Given the description of an element on the screen output the (x, y) to click on. 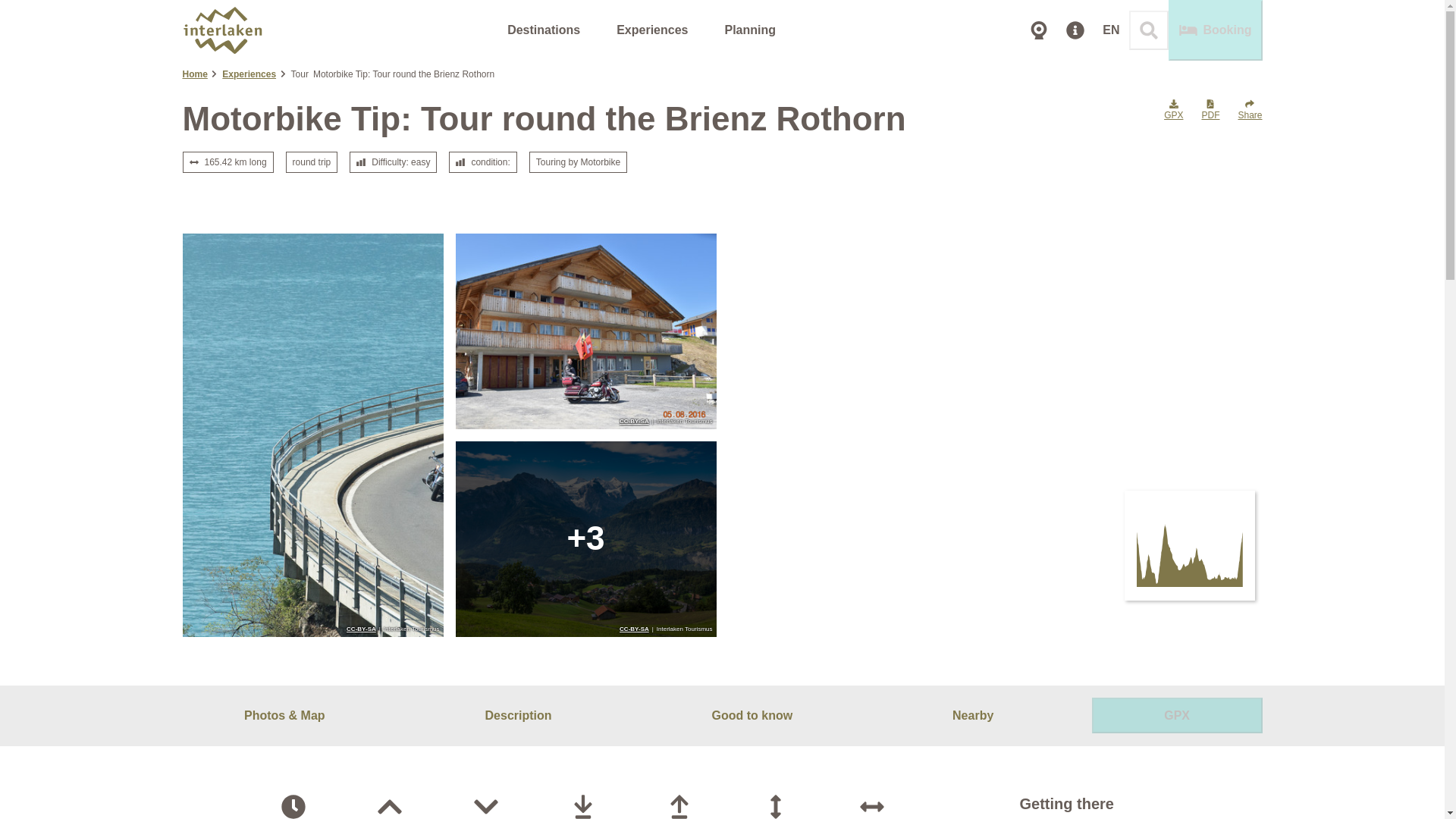
Nearby (972, 715)
Good to know (751, 715)
Description (517, 715)
Good to know (751, 715)
GPX (1177, 715)
Description (517, 715)
Destinations (543, 30)
GPX (1177, 715)
Good to know (751, 715)
Back to home page (222, 29)
